Given the description of an element on the screen output the (x, y) to click on. 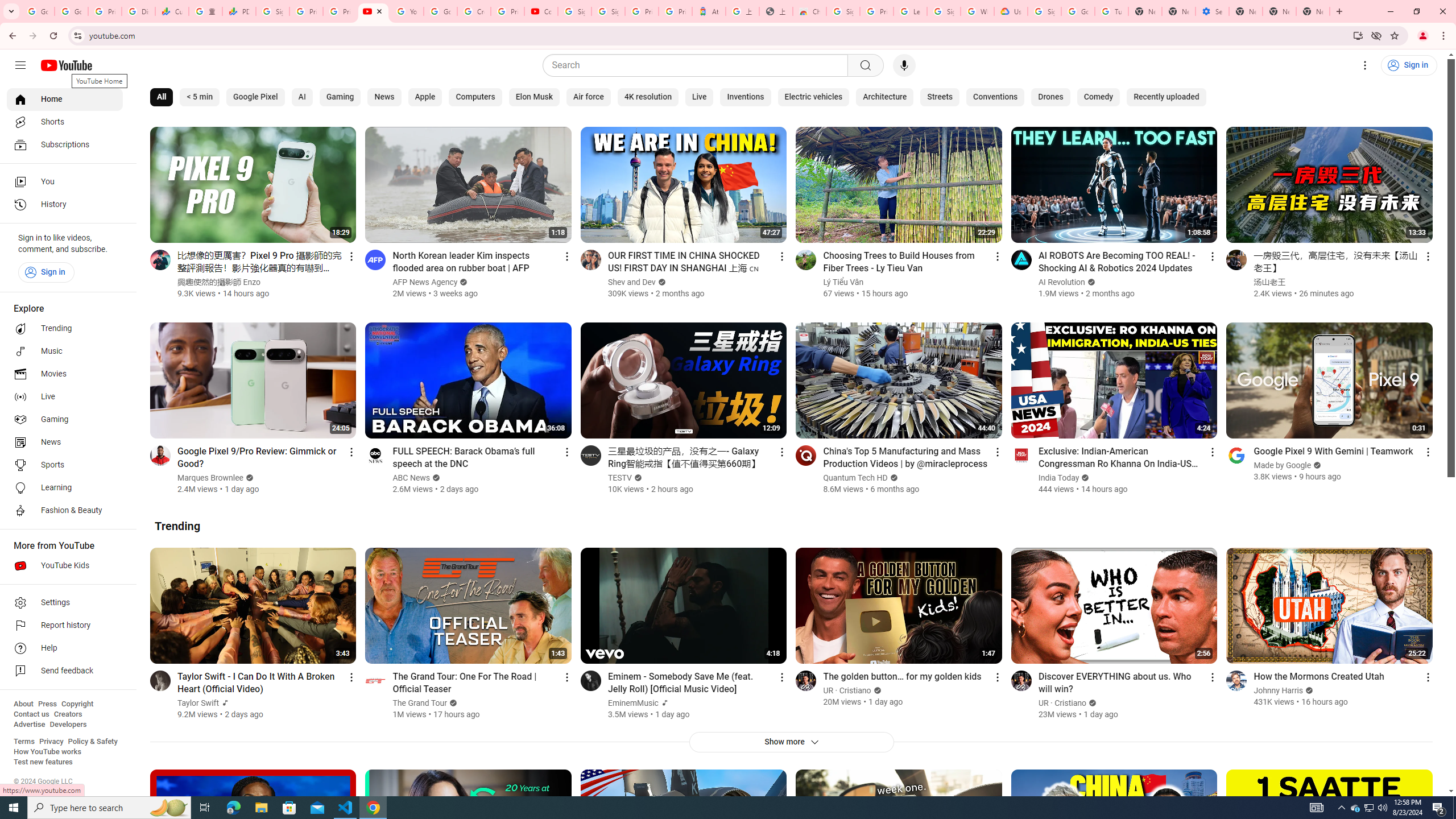
Marques Brownlee (210, 477)
Google Pixel (255, 97)
Report history (64, 625)
Comedy (1098, 97)
Apple (424, 97)
Creators (67, 714)
